Given the description of an element on the screen output the (x, y) to click on. 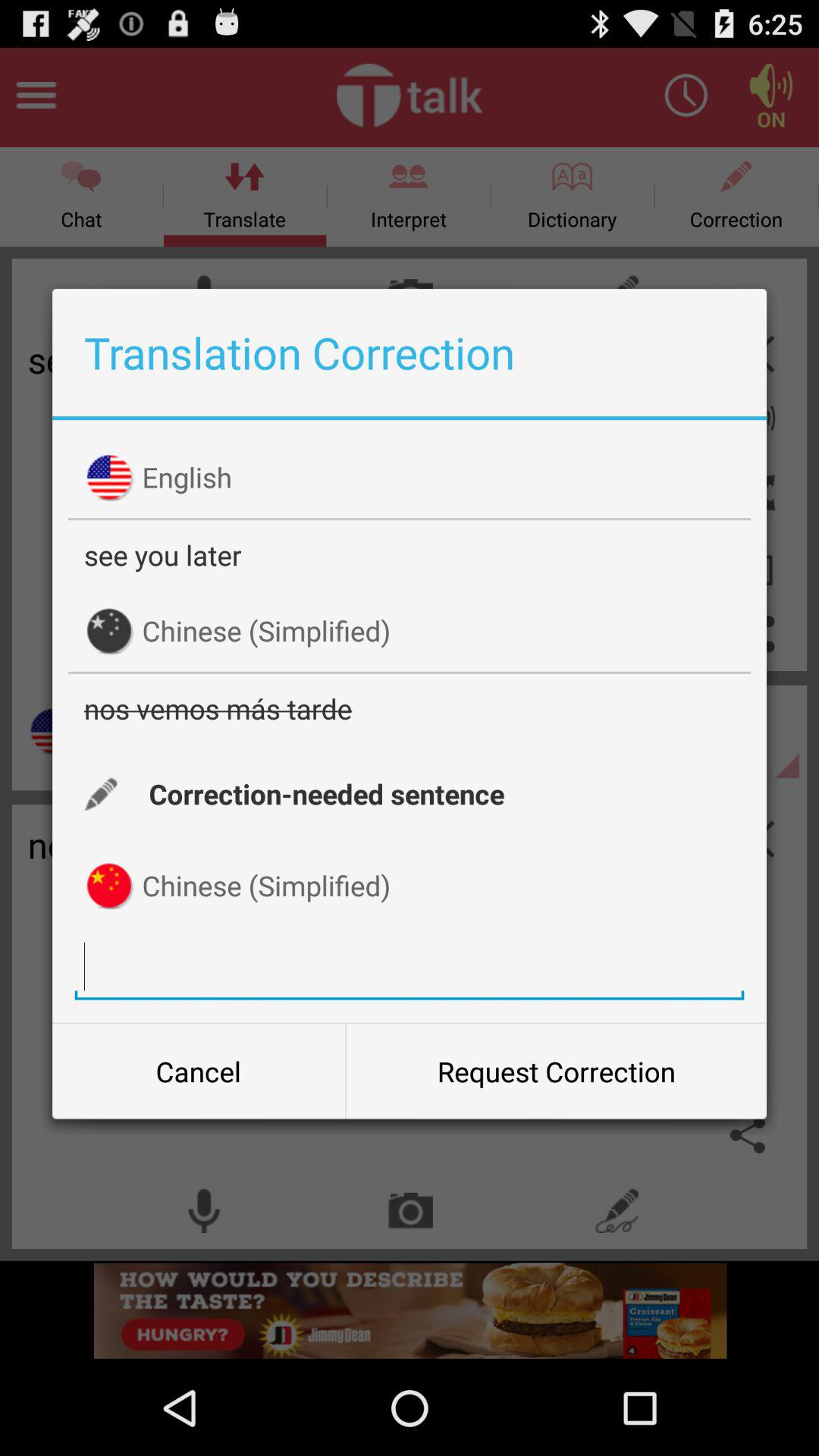
go to the translation tab (409, 966)
